Given the description of an element on the screen output the (x, y) to click on. 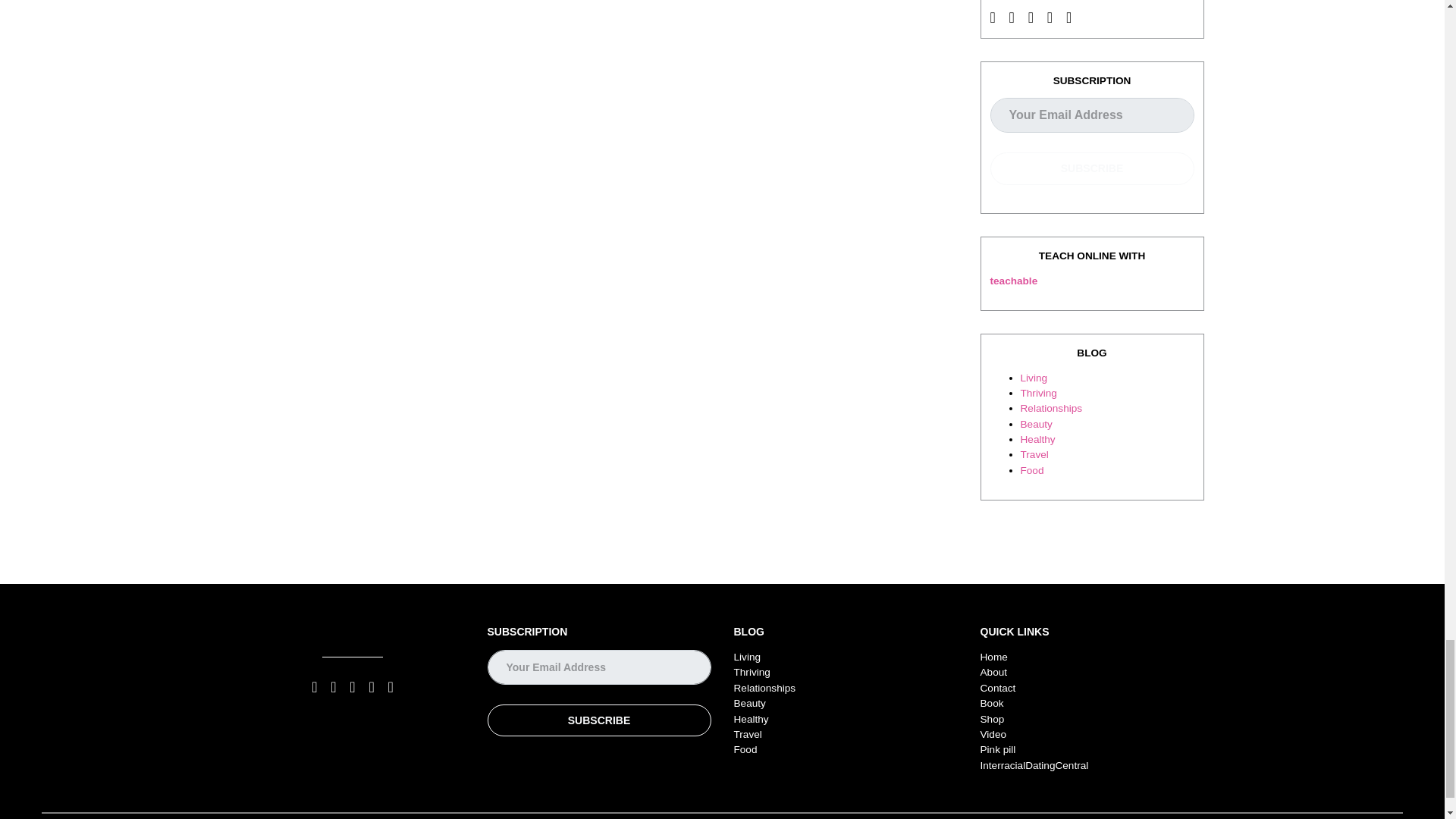
Subscribe (598, 720)
Subscribe (1091, 168)
